Given the description of an element on the screen output the (x, y) to click on. 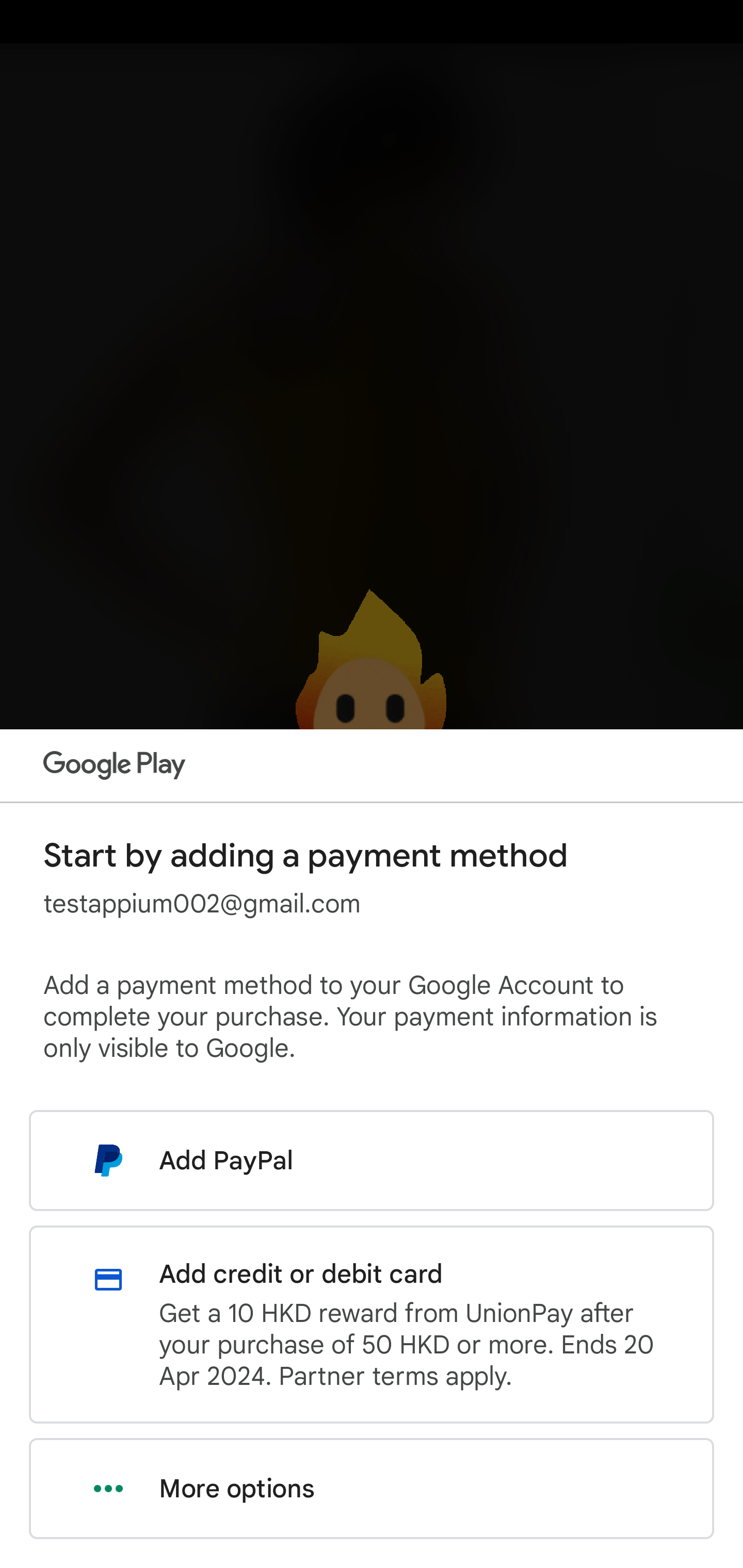
Add PayPal (371, 1160)
More options (371, 1488)
